Given the description of an element on the screen output the (x, y) to click on. 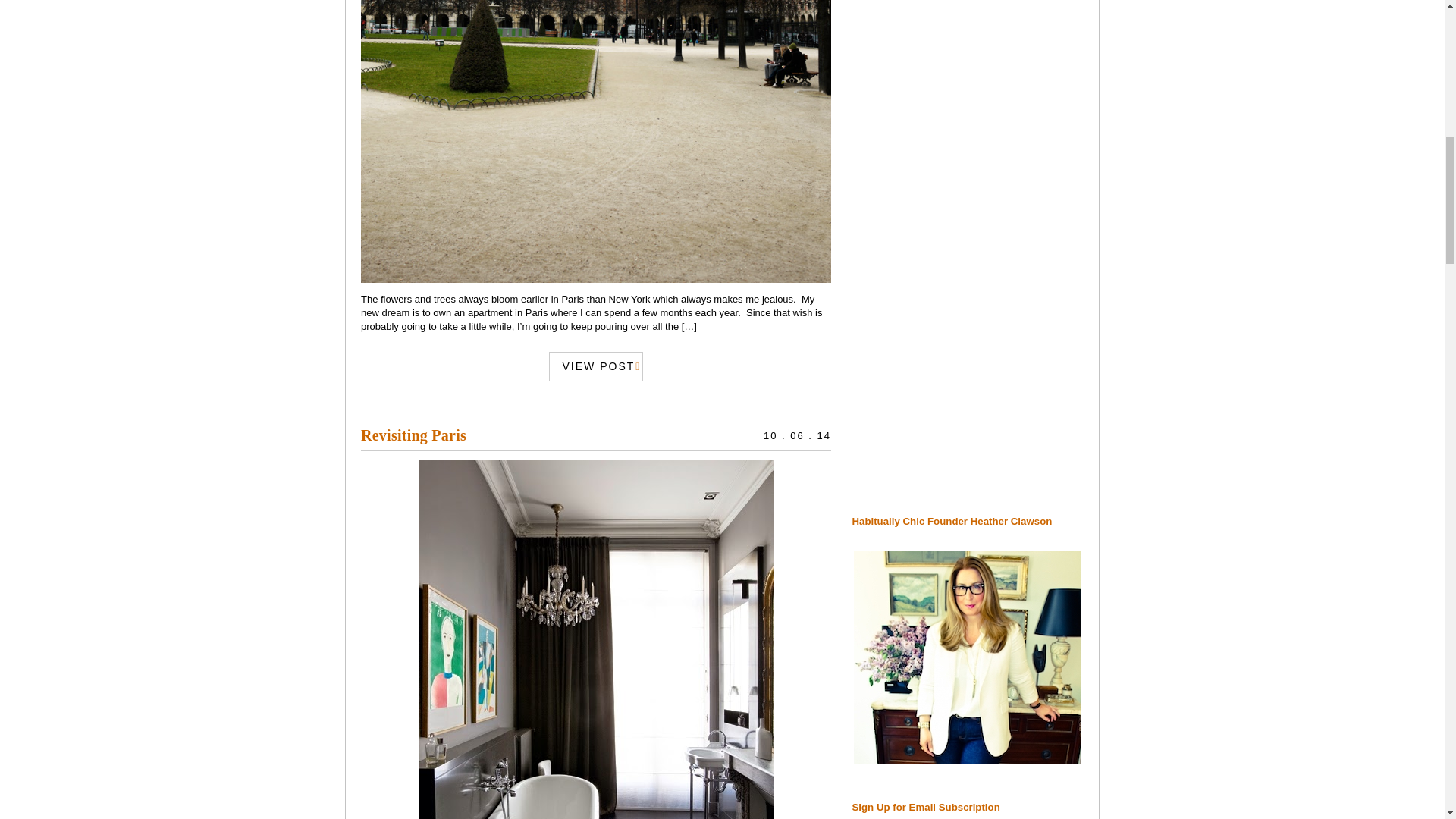
Revisiting Paris (413, 434)
View This Post (596, 141)
View This Post (595, 366)
View This Post (413, 434)
VIEW POST (595, 366)
